Given the description of an element on the screen output the (x, y) to click on. 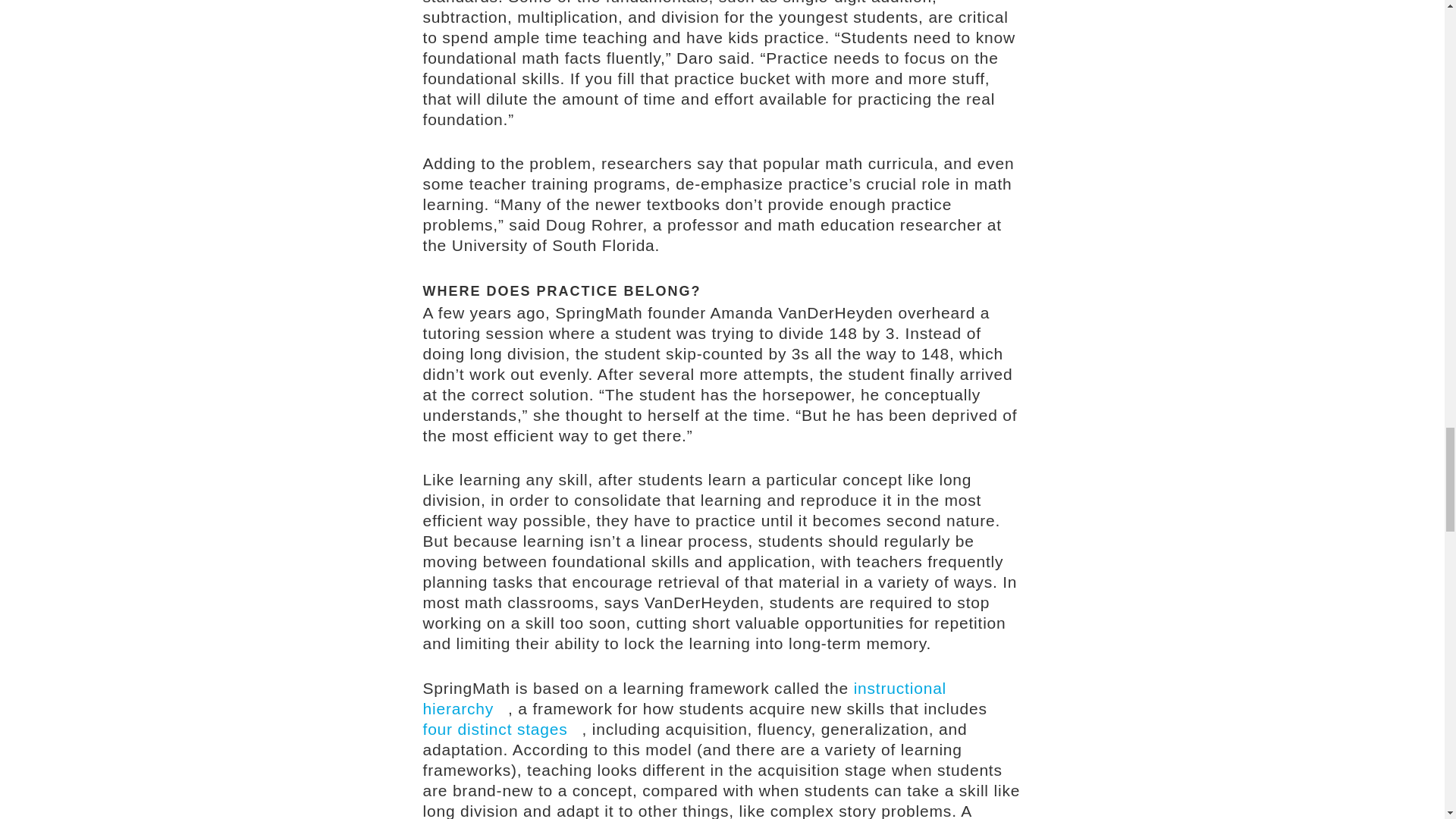
instructional hierarchy (685, 698)
four distinct stages (502, 728)
